Given the description of an element on the screen output the (x, y) to click on. 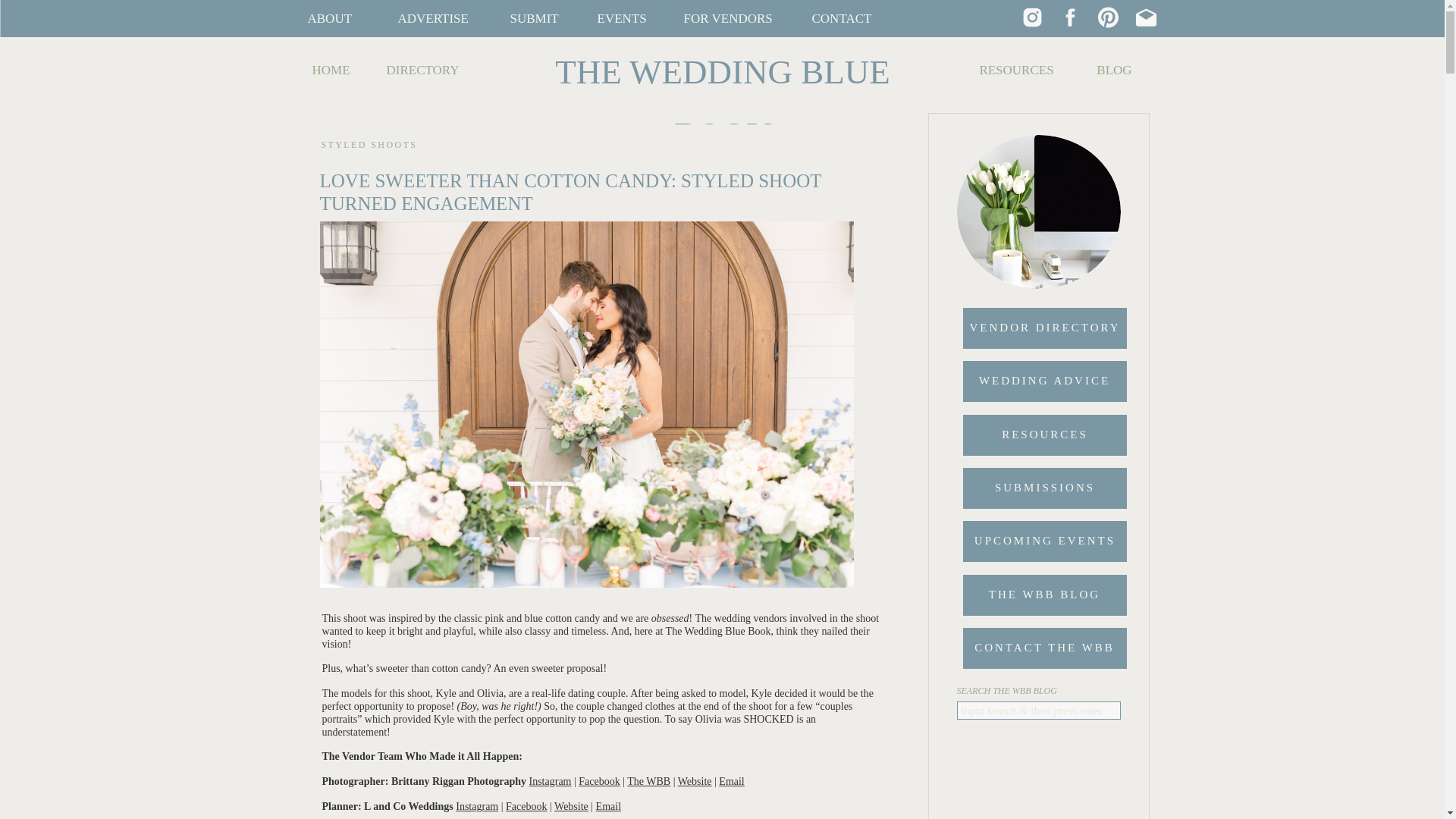
SUBMISSIONS (1044, 488)
HOME (330, 70)
BLOG (1113, 70)
Website (694, 781)
ABOUT (334, 18)
Website (571, 806)
Instagram (550, 781)
FOR VENDORS (730, 18)
EVENTS (622, 18)
Email (731, 781)
